Given the description of an element on the screen output the (x, y) to click on. 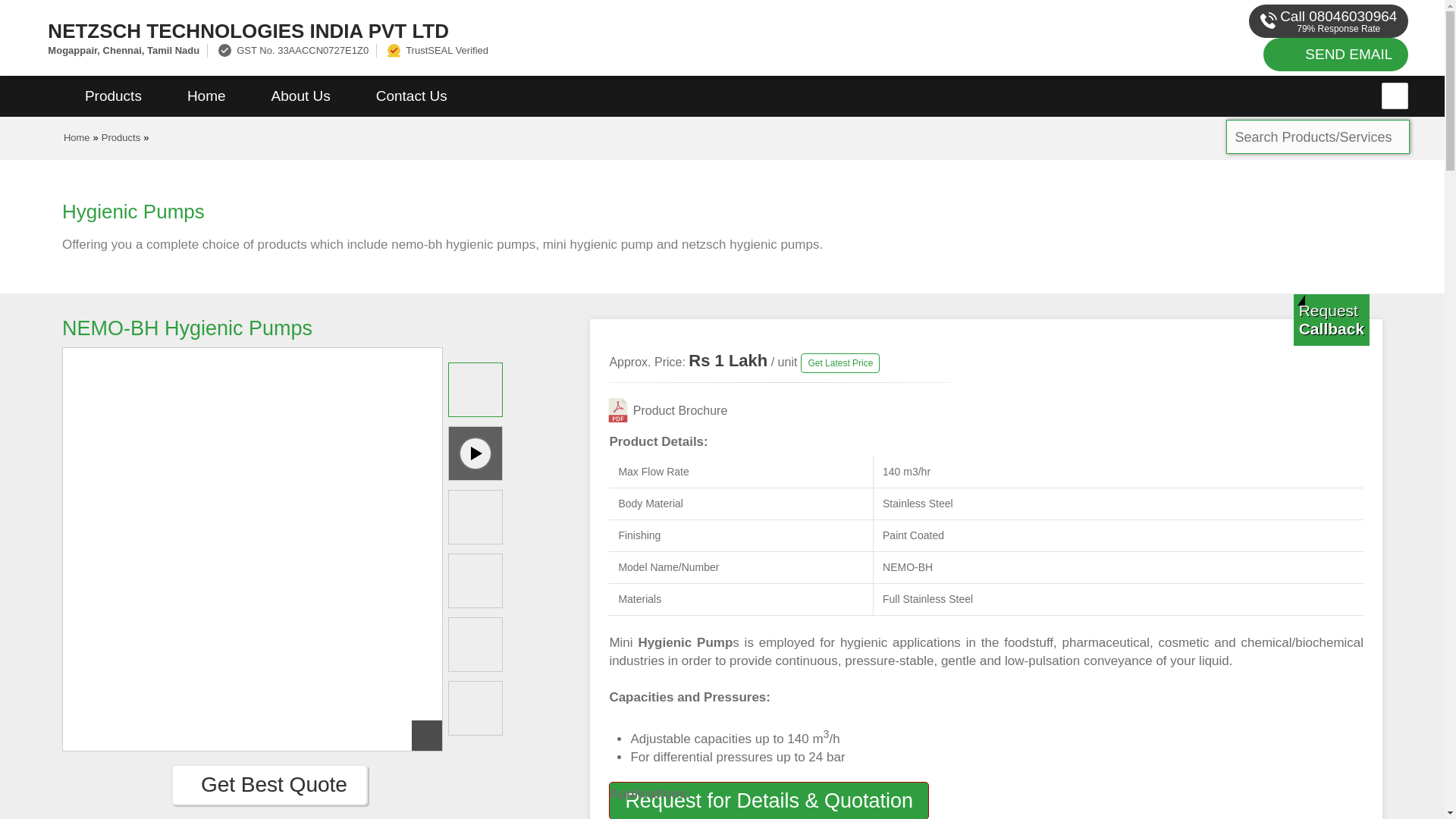
Home (77, 137)
NETZSCH TECHNOLOGIES INDIA PVT LTD (485, 31)
Contact Us (411, 96)
About Us (300, 96)
Get a Call from us (1332, 319)
Products (113, 96)
Home (206, 96)
Products (120, 137)
